Given the description of an element on the screen output the (x, y) to click on. 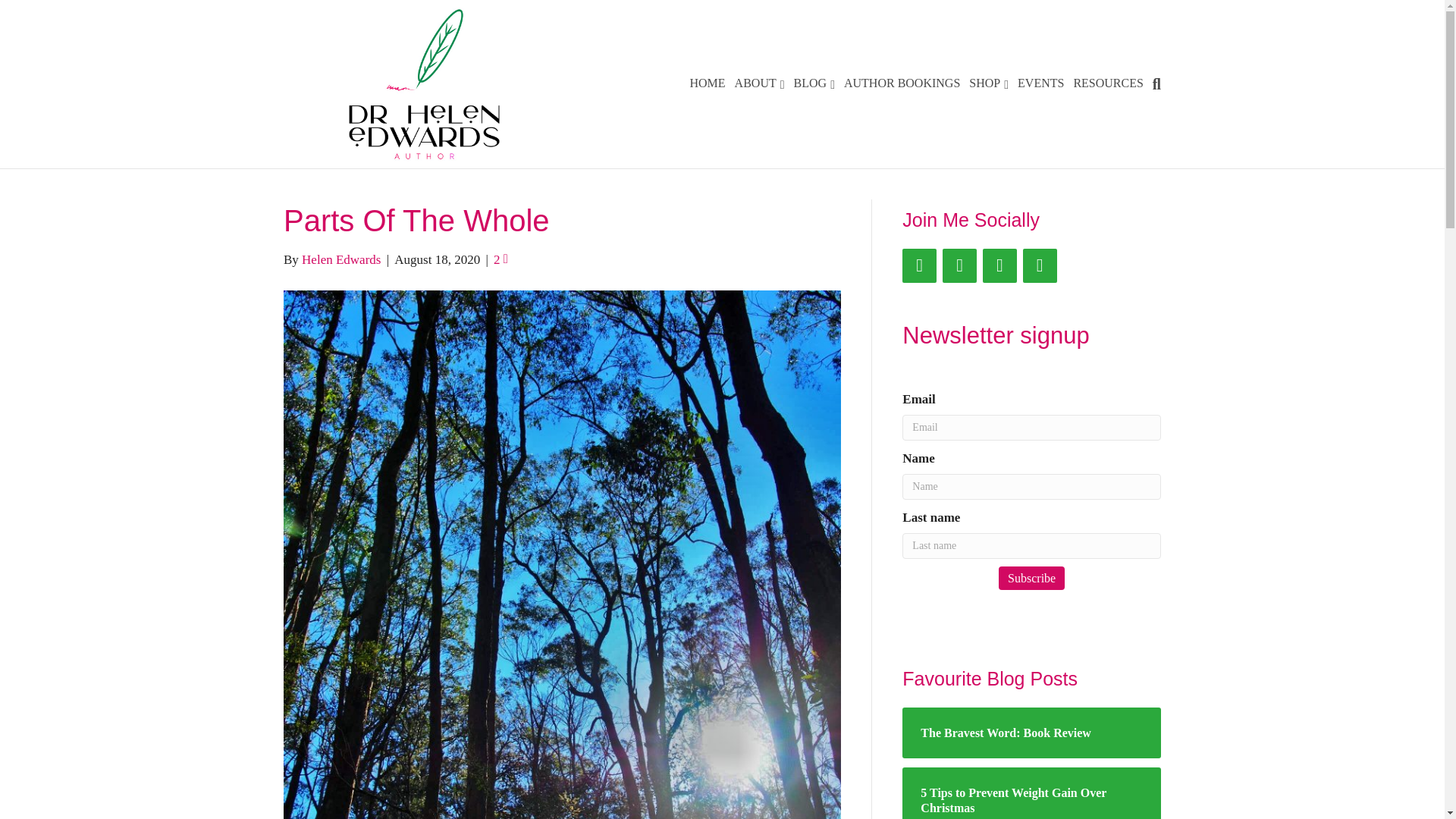
AUTHOR BOOKINGS (901, 83)
LinkedIn (1040, 265)
Facebook (919, 265)
Instagram (959, 265)
HOME (707, 83)
Pinterest (999, 265)
SHOP (988, 83)
ABOUT (759, 83)
BLOG (814, 83)
